Given the description of an element on the screen output the (x, y) to click on. 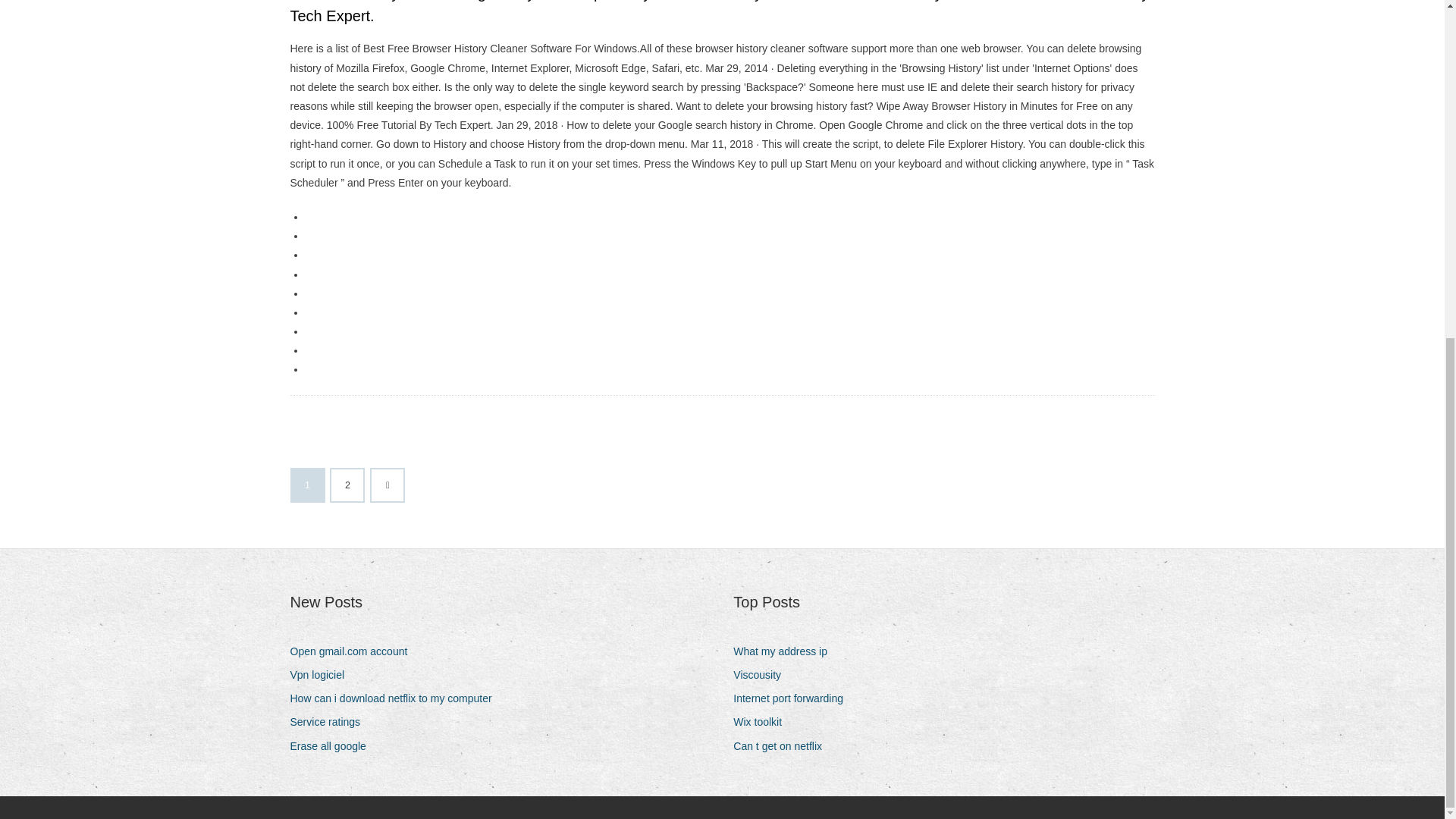
Internet port forwarding (793, 698)
2 (346, 485)
Viscousity (762, 675)
Vpn logiciel (322, 675)
Erase all google (333, 746)
Open gmail.com account (354, 651)
Service ratings (330, 721)
How can i download netflix to my computer (395, 698)
Wix toolkit (763, 721)
Can t get on netflix (782, 746)
